Given the description of an element on the screen output the (x, y) to click on. 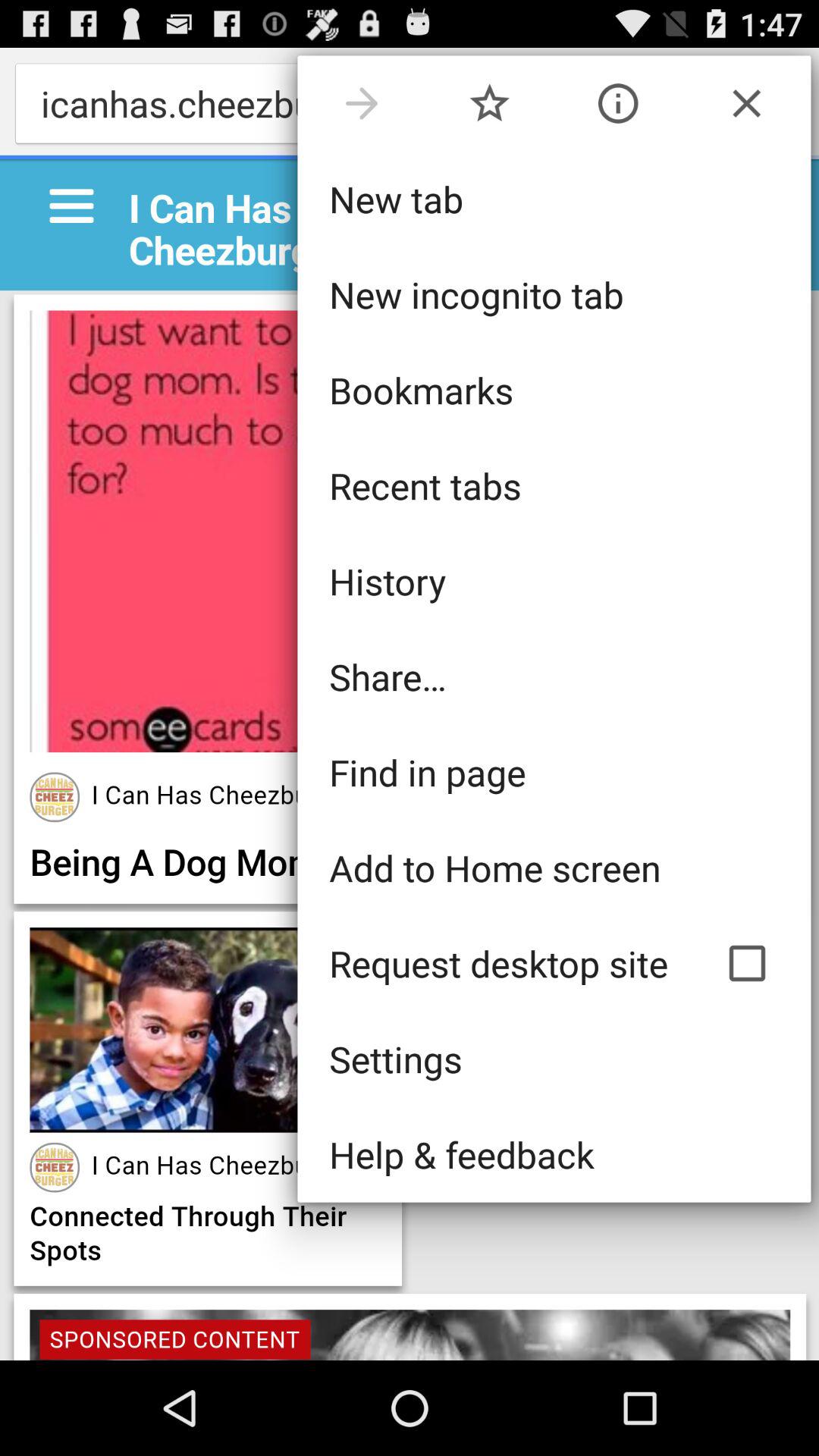
click item above the new tab item (746, 103)
